Given the description of an element on the screen output the (x, y) to click on. 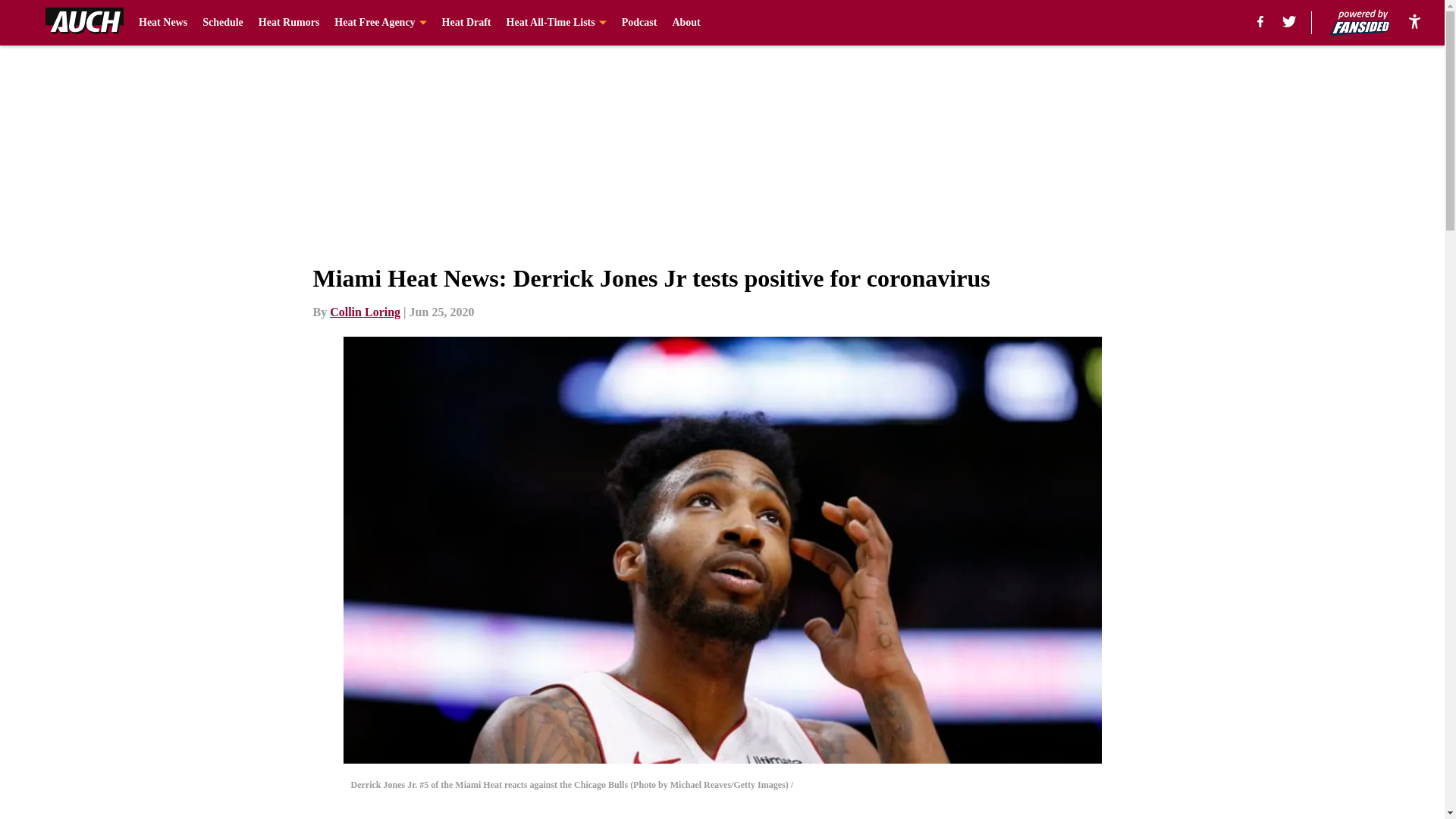
Heat News (162, 22)
Collin Loring (365, 311)
Podcast (639, 22)
About (685, 22)
Heat Draft (467, 22)
Heat Rumors (289, 22)
Schedule (222, 22)
